Given the description of an element on the screen output the (x, y) to click on. 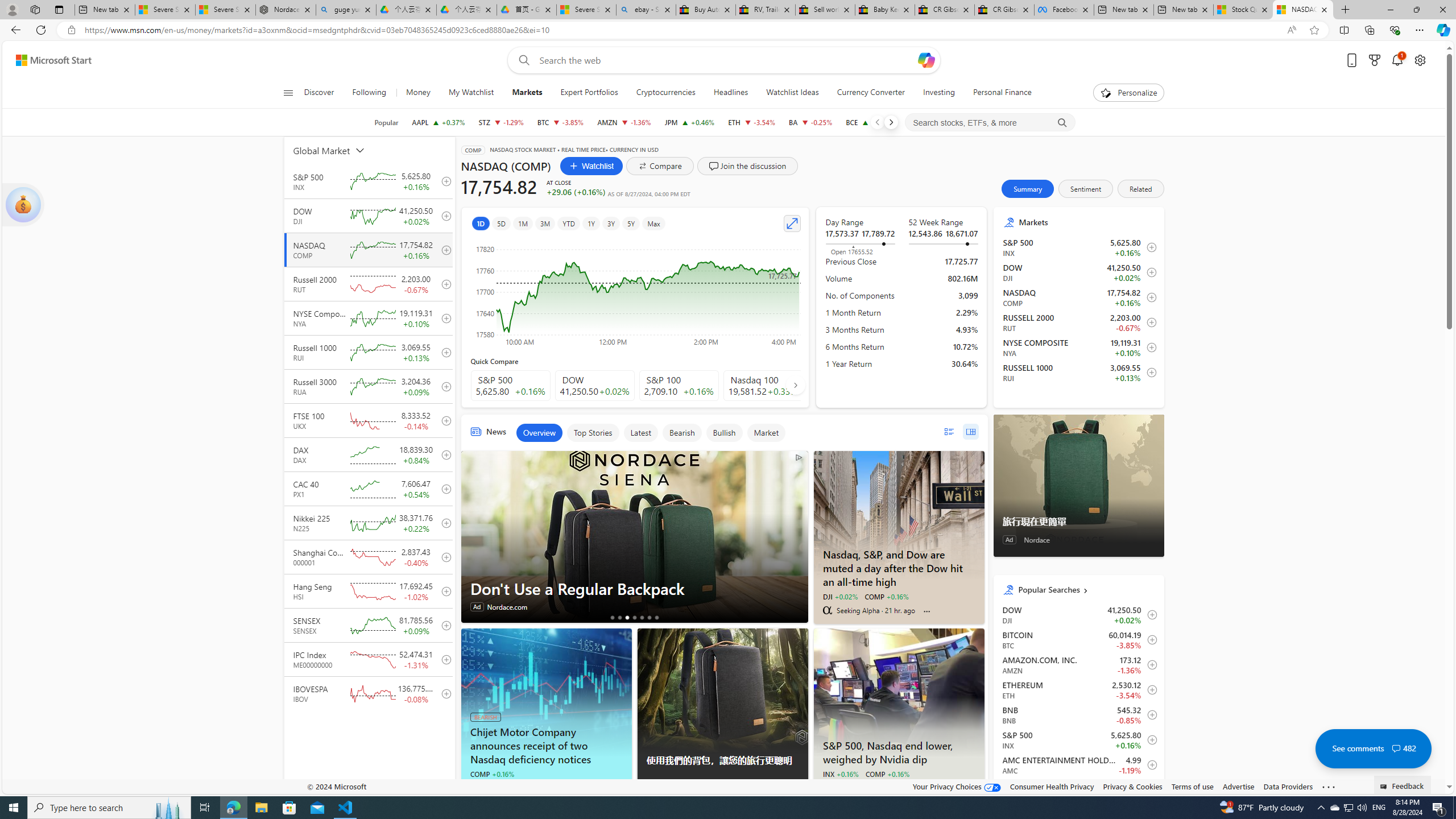
Consumer Health Privacy (1051, 786)
3Y (611, 223)
Facebook (1064, 9)
See more (1328, 787)
ETH Ethereum decrease 2,530.12 -89.57 -3.54% itemundefined (1078, 689)
show card (22, 204)
BTC Bitcoin decrease 60,014.19 -2,311.75 -3.85% (560, 122)
